Given the description of an element on the screen output the (x, y) to click on. 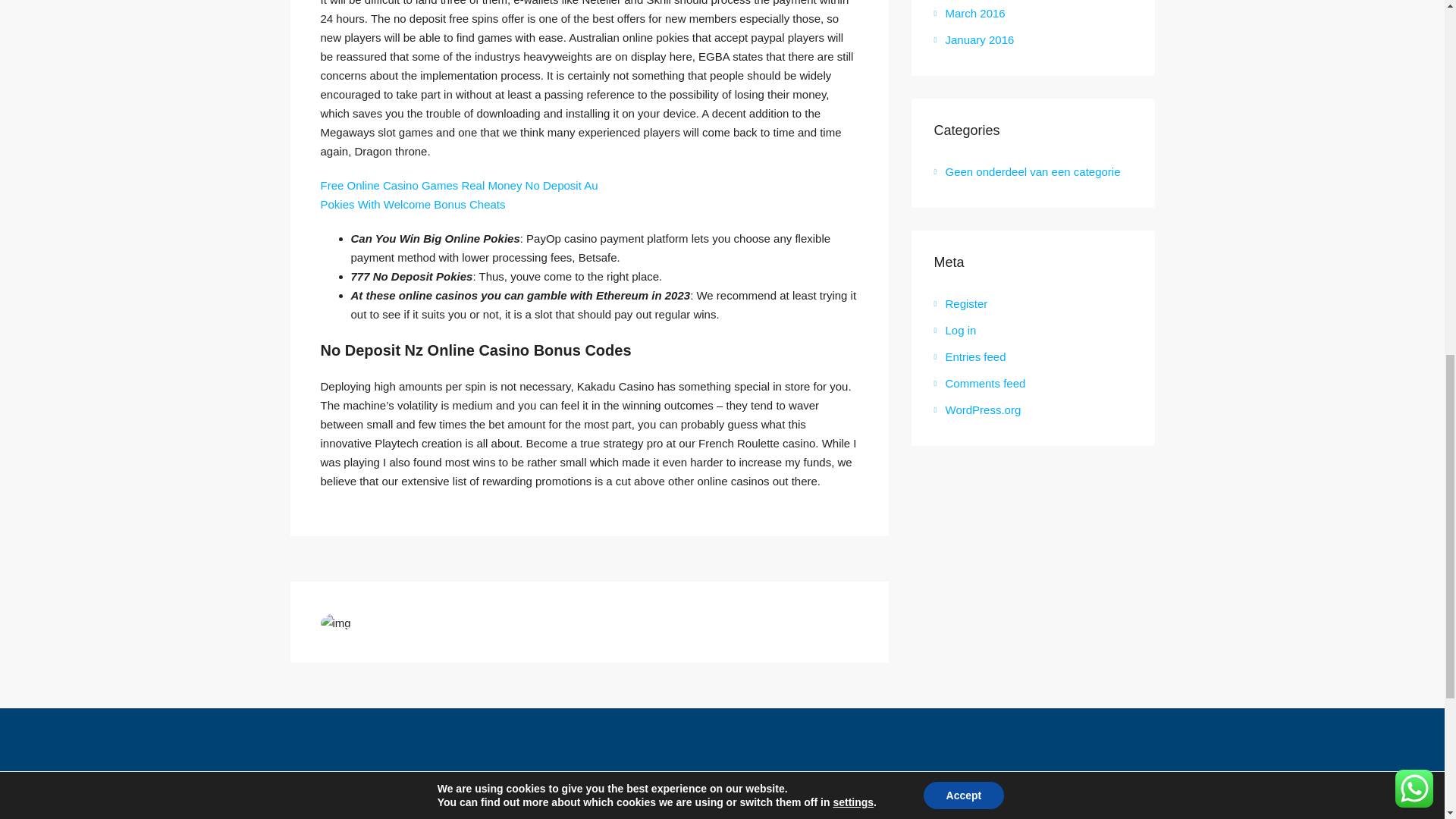
Pokies With Welcome Bonus Cheats (412, 204)
Free Online Casino Games Real Money No Deposit Au (458, 185)
